Given the description of an element on the screen output the (x, y) to click on. 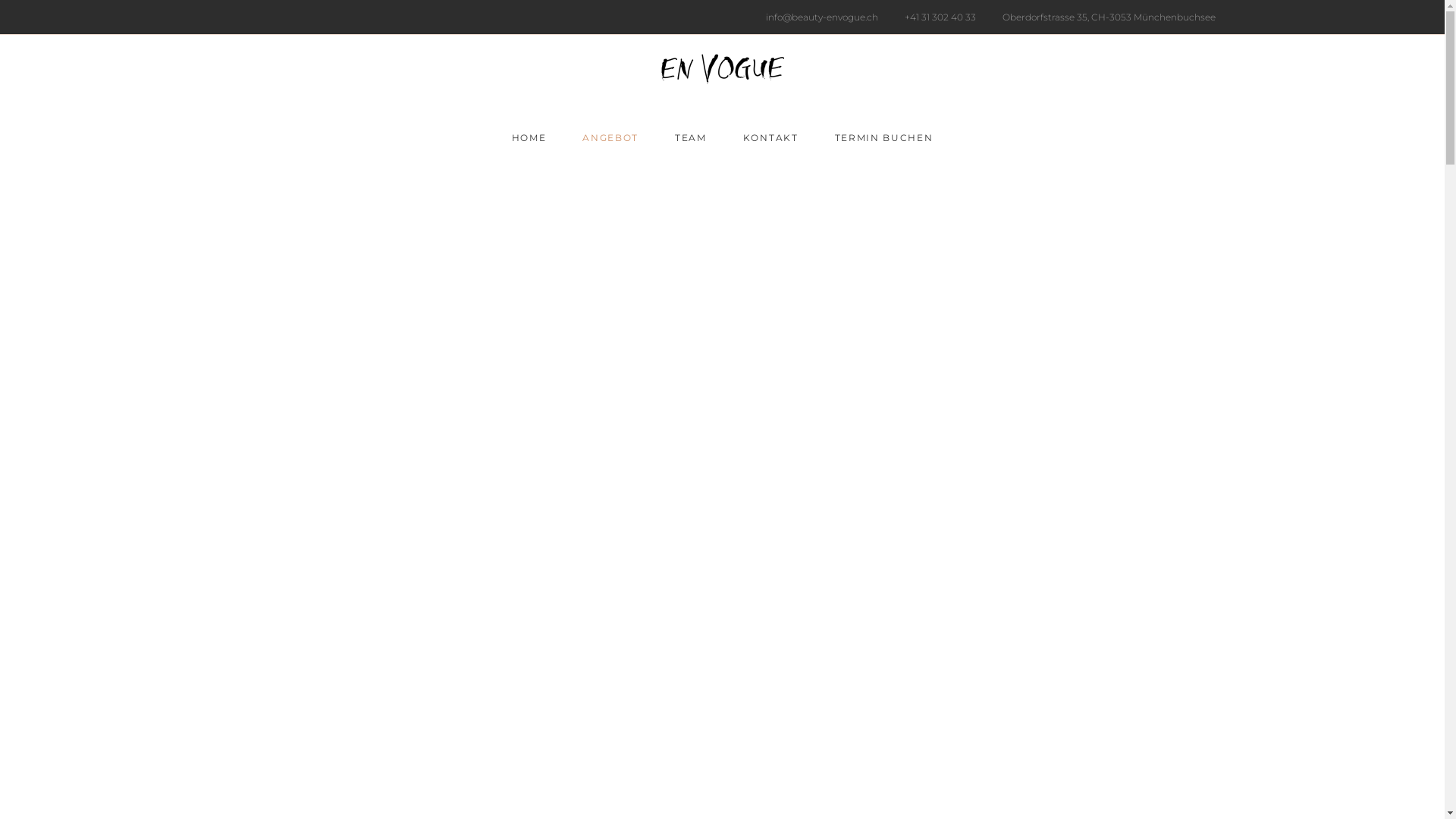
instagram Element type: text (766, 692)
Telefon: +41 31 302 40 33 Element type: text (761, 641)
DATENSCHUTZ Element type: text (774, 791)
facebook Element type: text (675, 692)
info@beauty-envogue.ch Element type: text (818, 16)
TEAM Element type: text (690, 137)
KONTAKT Element type: text (770, 137)
TERMIN BUCHEN Element type: text (883, 137)
ANGEBOT Element type: text (610, 137)
HOME Element type: text (528, 137)
E-Mail: info@beauty-envogue.ch Element type: text (972, 641)
IMPRESSUM Element type: text (661, 791)
+41 31 302 40 33 Element type: text (935, 16)
